Given the description of an element on the screen output the (x, y) to click on. 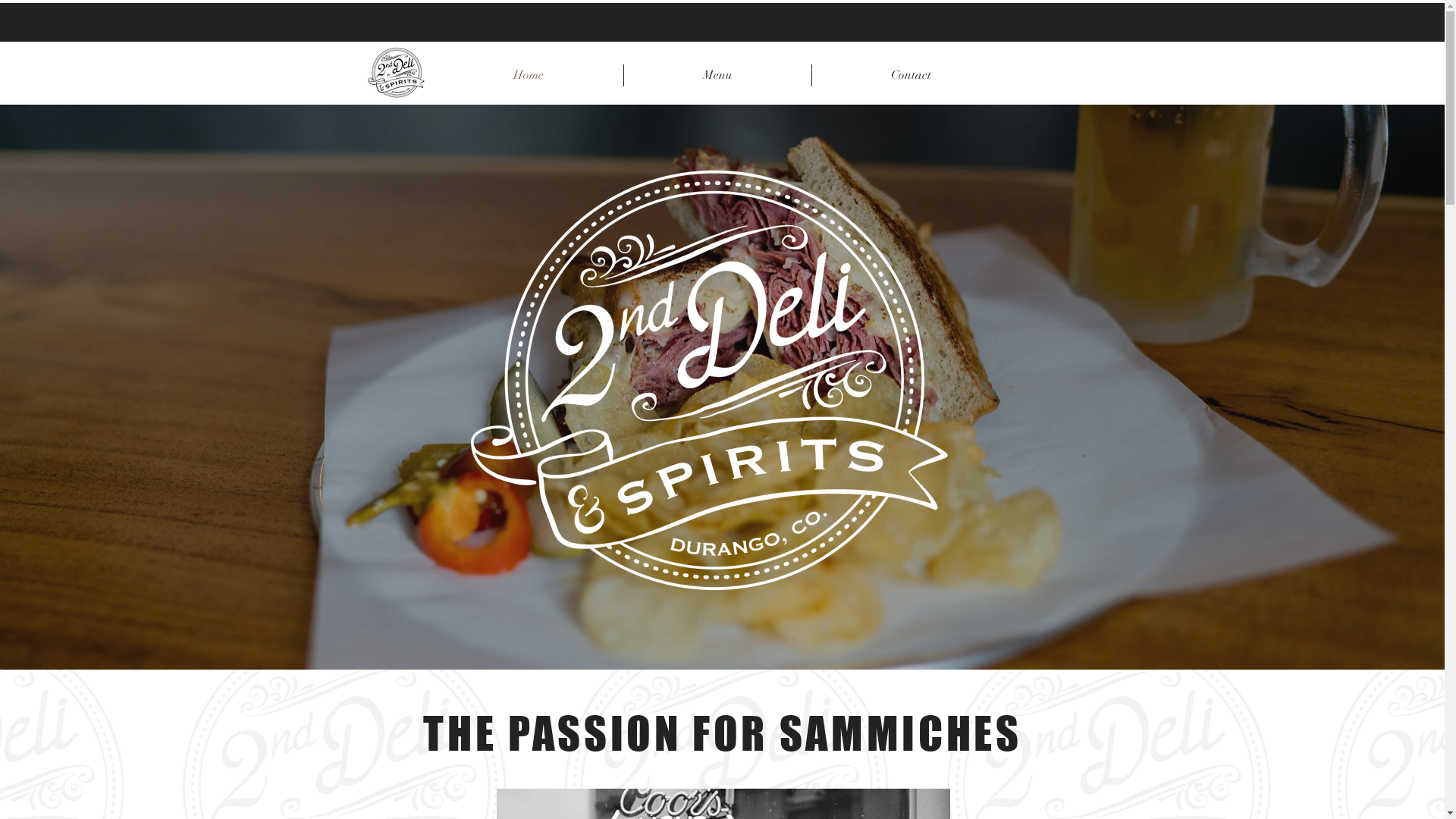
Menu Element type: text (716, 75)
Home Element type: text (527, 75)
Contact Element type: text (910, 75)
